Given the description of an element on the screen output the (x, y) to click on. 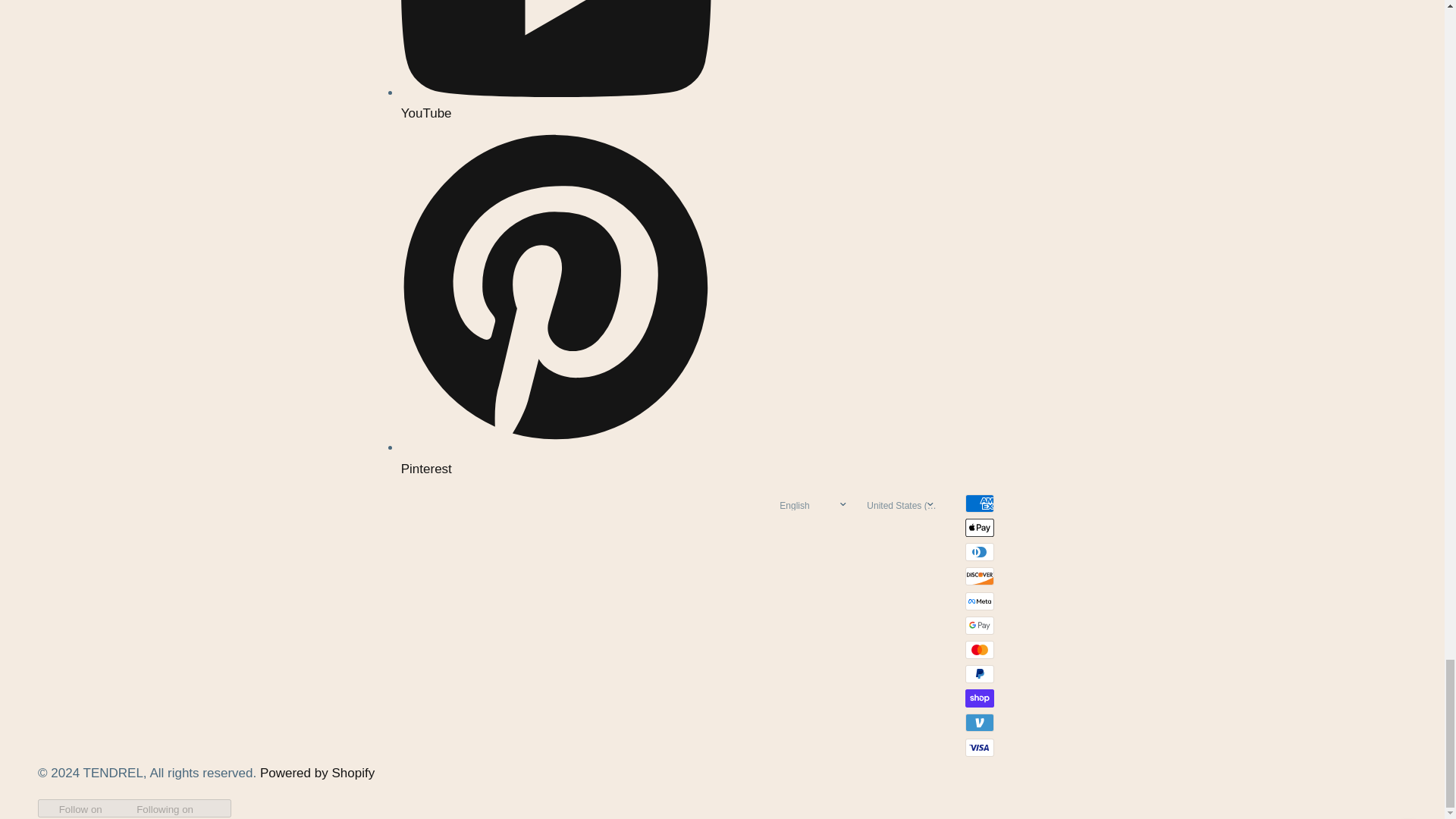
Mastercard (979, 649)
Discover (979, 576)
Diners Club (979, 551)
American Express (979, 503)
Apple Pay (979, 527)
Meta Pay (979, 601)
PayPal (979, 674)
Google Pay (979, 625)
